Given the description of an element on the screen output the (x, y) to click on. 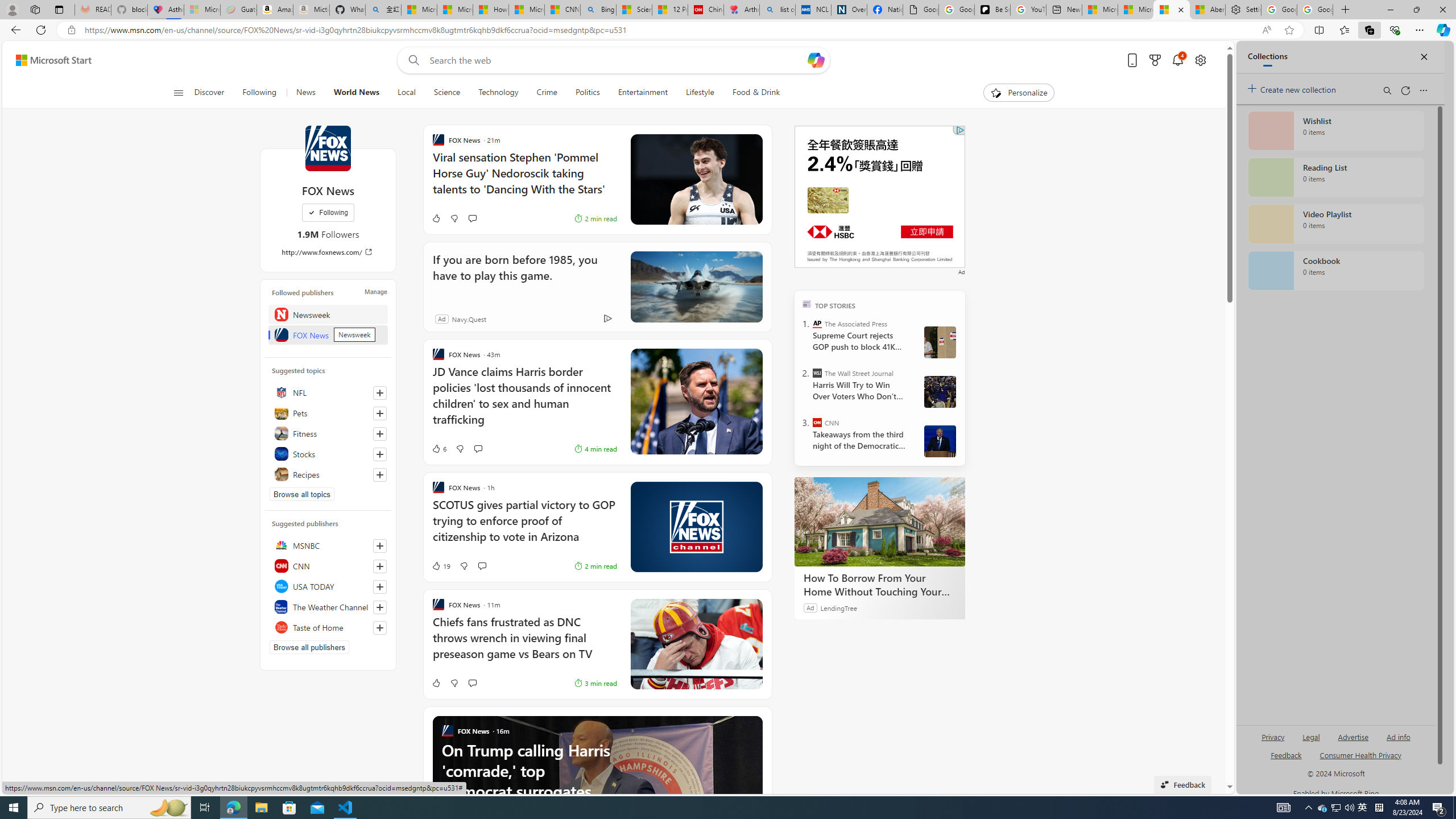
Be Smart | creating Science videos | Patreon (991, 9)
FOX News - MSN (1170, 9)
Follow this source (379, 627)
